Given the description of an element on the screen output the (x, y) to click on. 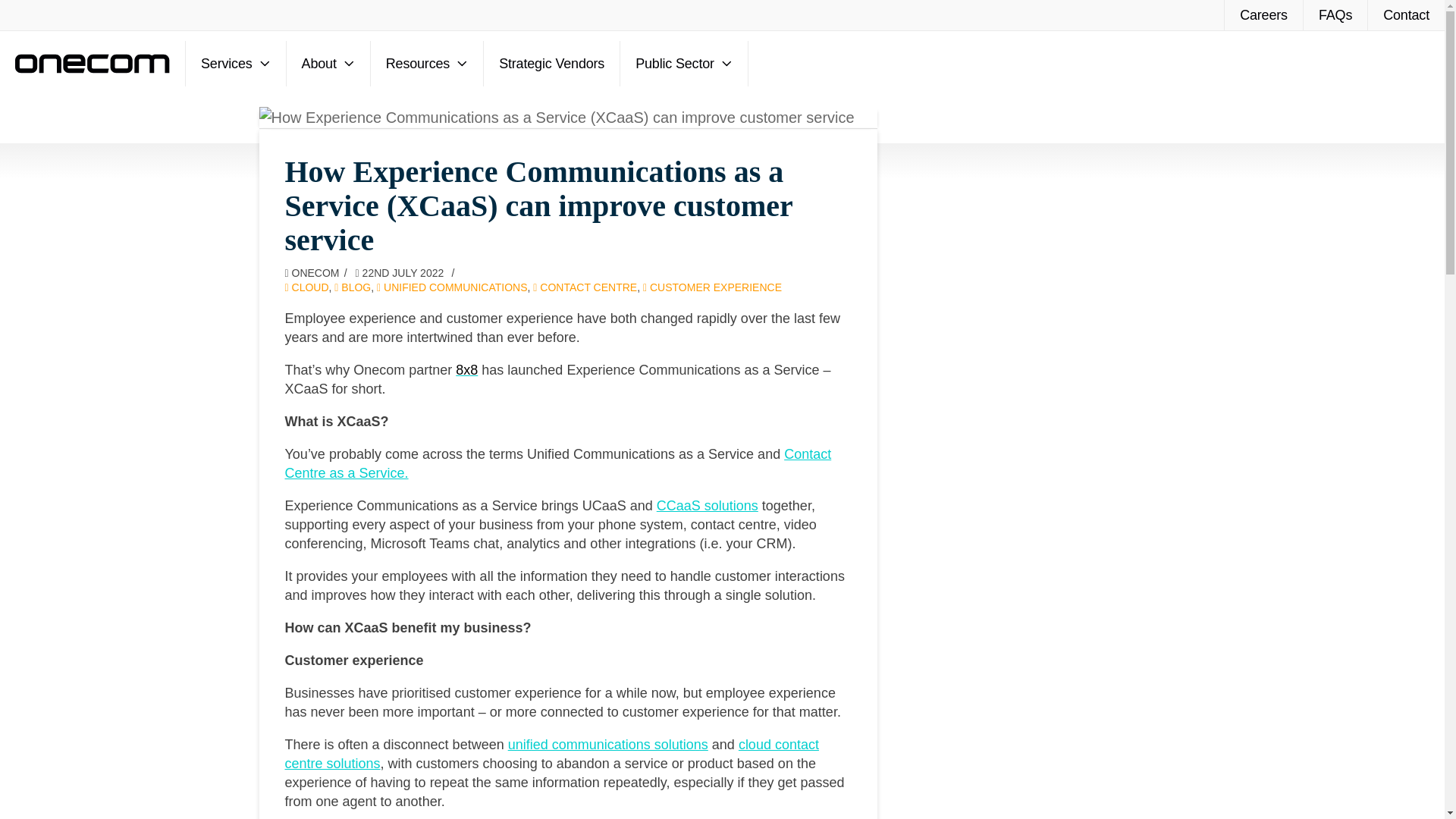
FAQs (1335, 15)
Careers (1263, 15)
About (328, 63)
Services (236, 63)
